Given the description of an element on the screen output the (x, y) to click on. 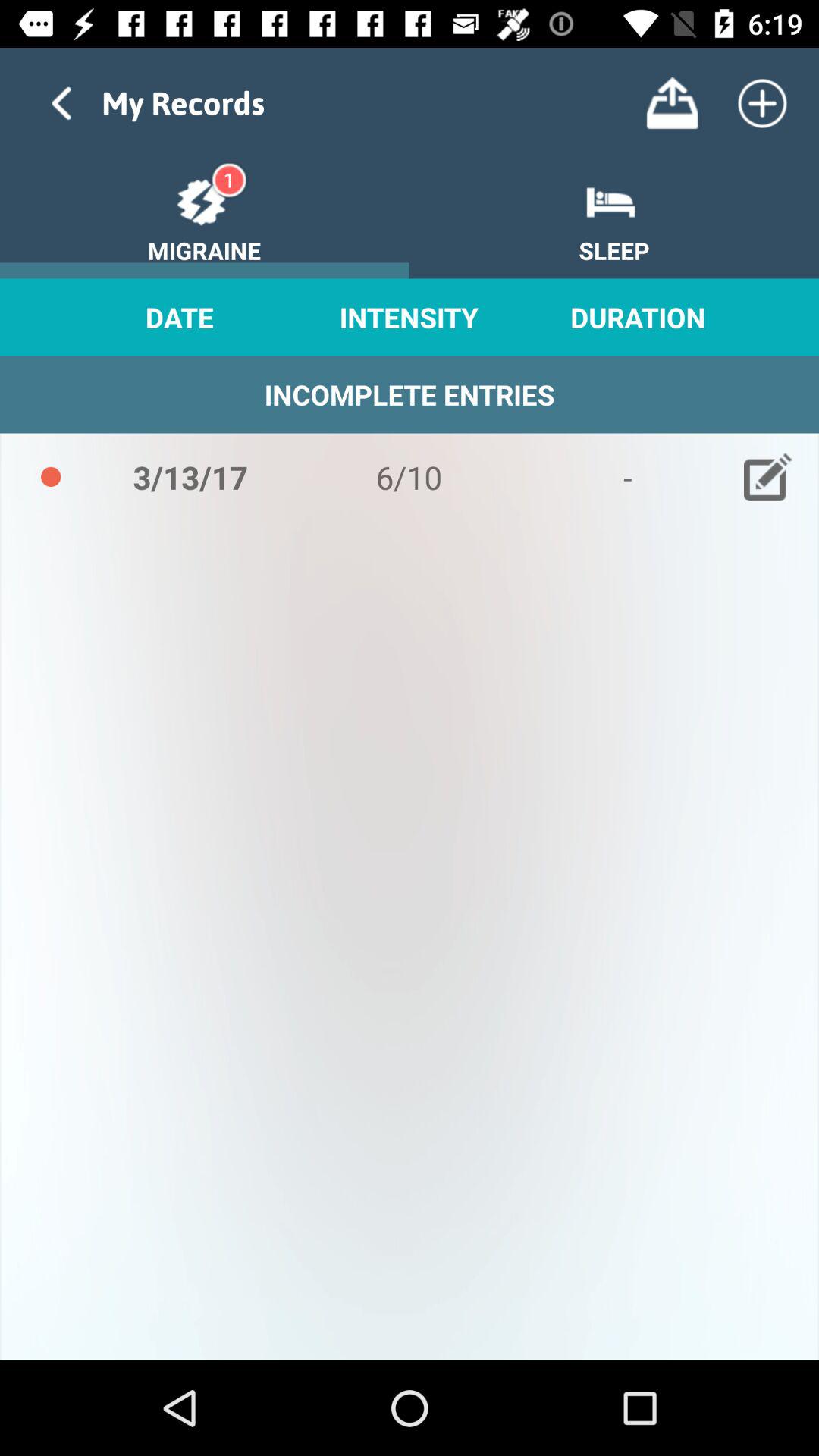
send message (672, 103)
